Given the description of an element on the screen output the (x, y) to click on. 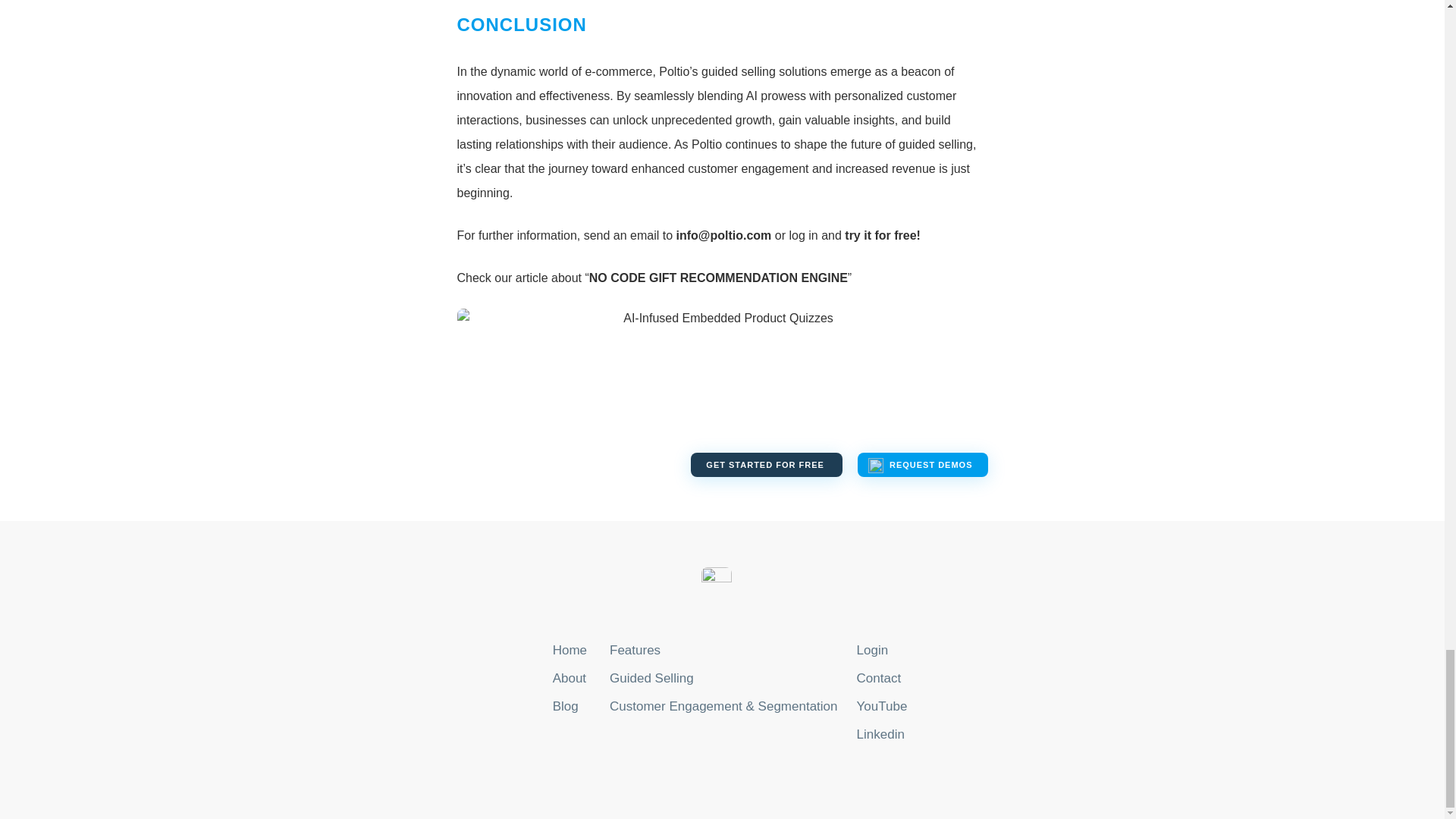
try it for free! (882, 235)
NO CODE GIFT RECOMMENDATION ENGINE (718, 277)
REQUEST DEMOS (922, 464)
Home (569, 650)
About (569, 678)
GET STARTED FOR FREE (766, 464)
